Given the description of an element on the screen output the (x, y) to click on. 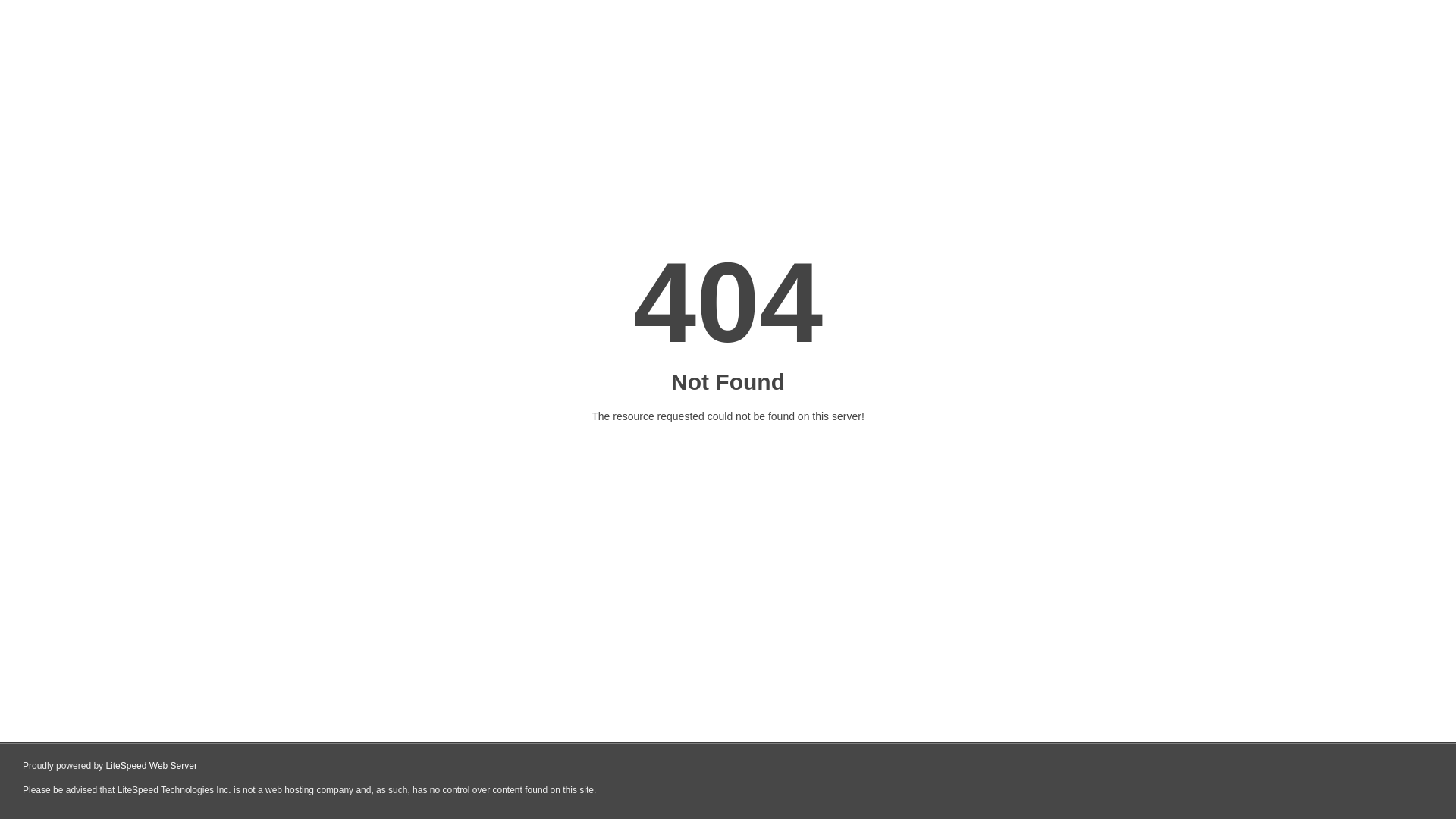
LiteSpeed Web Server (150, 765)
